Given the description of an element on the screen output the (x, y) to click on. 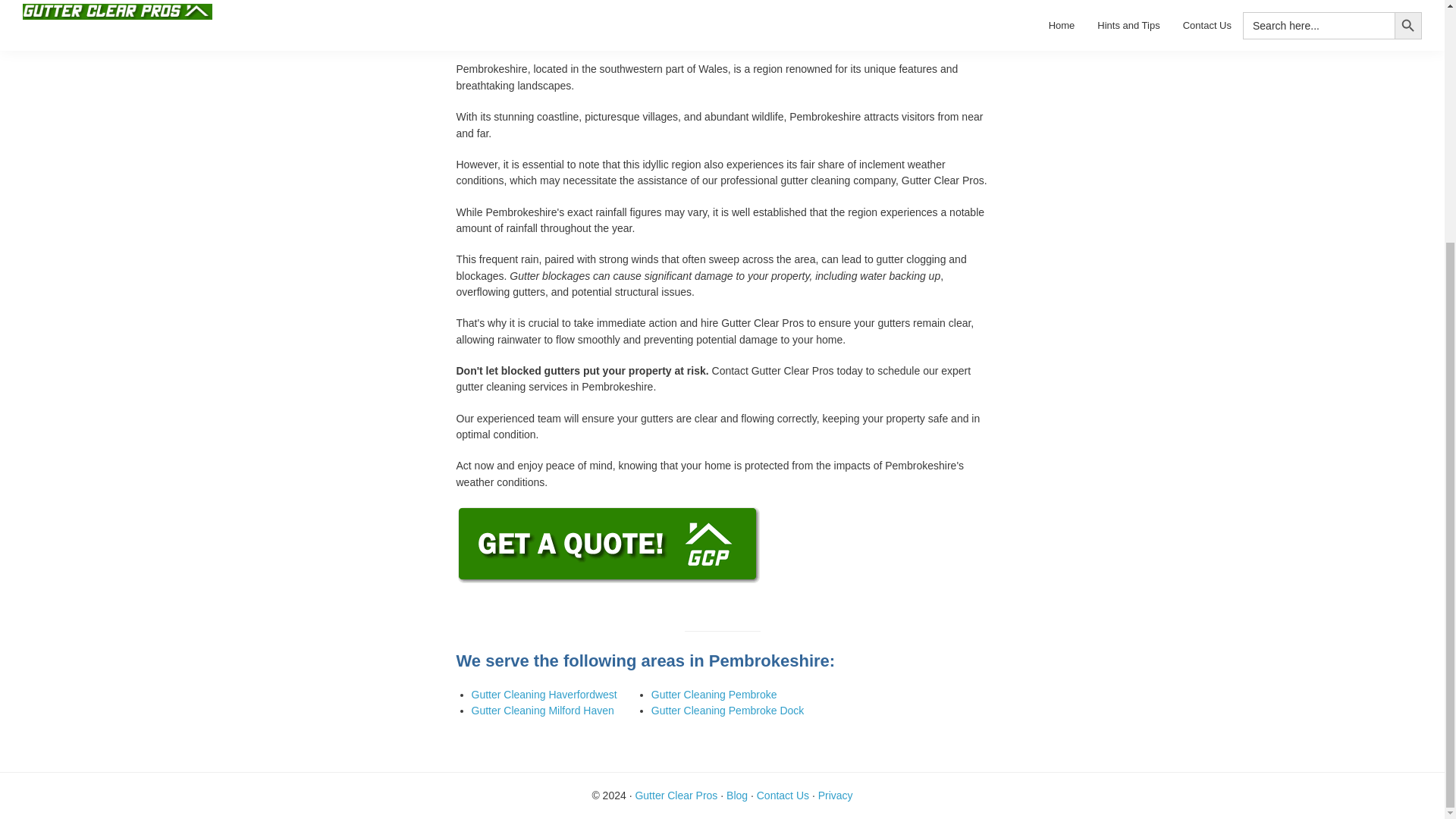
Gutter Cleaning Milford Haven (542, 710)
Privacy (835, 795)
Gutter Clear Pros (675, 795)
Quote (609, 513)
Gutter Cleaning Pembroke Dock (727, 710)
Contact Us (783, 795)
Google map results for Pembrokeshire in UK (722, 20)
Gutter Cleaning Haverfordwest (544, 694)
Gutter Cleaning Pembroke (713, 694)
Blog (737, 795)
